Given the description of an element on the screen output the (x, y) to click on. 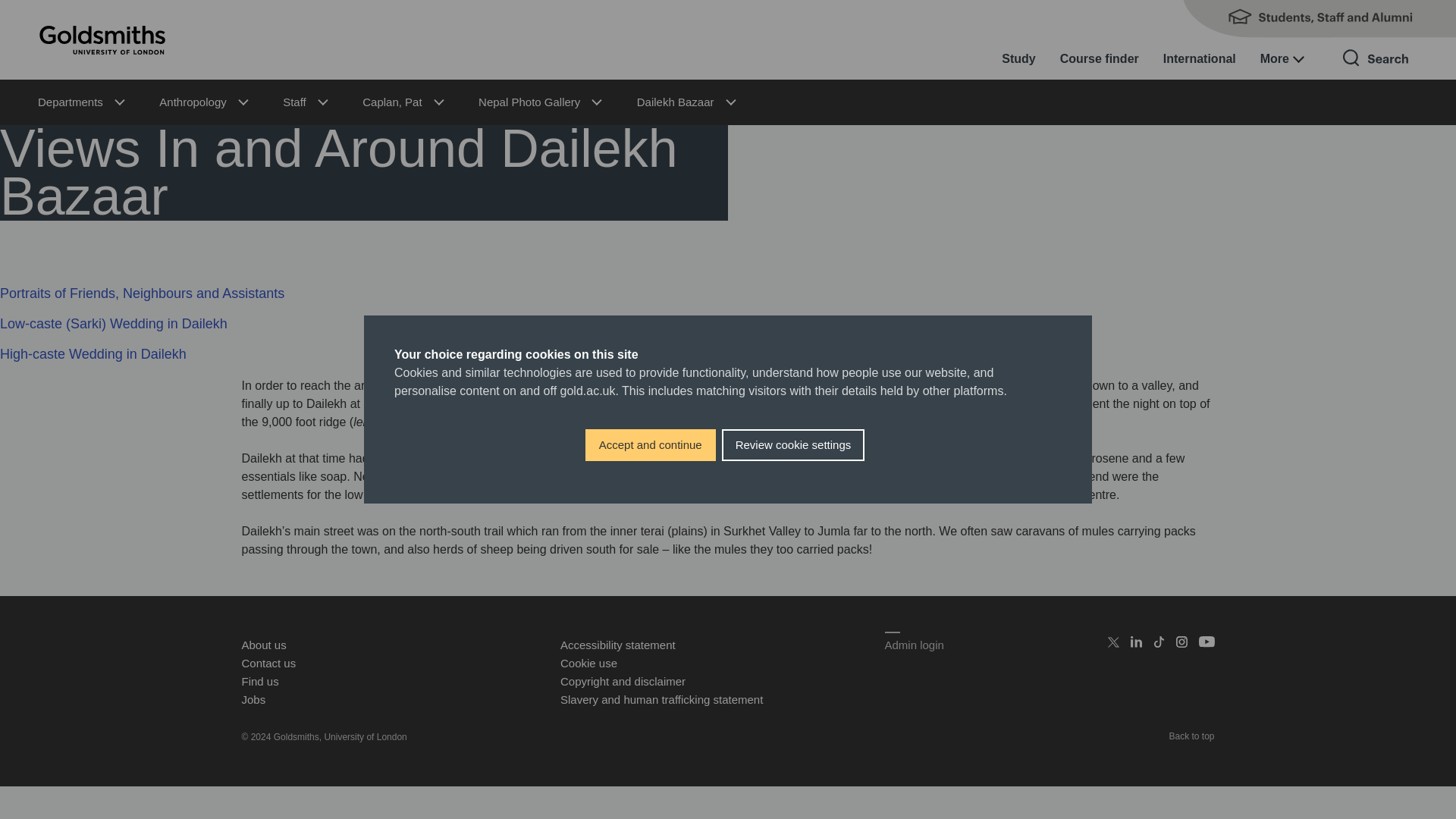
Study (1018, 58)
Goldsmiths - University of London (102, 39)
International (1199, 58)
Course finder (1098, 58)
More (1282, 58)
Review cookie settings (793, 445)
Search (1375, 71)
Accept and continue (650, 445)
